Given the description of an element on the screen output the (x, y) to click on. 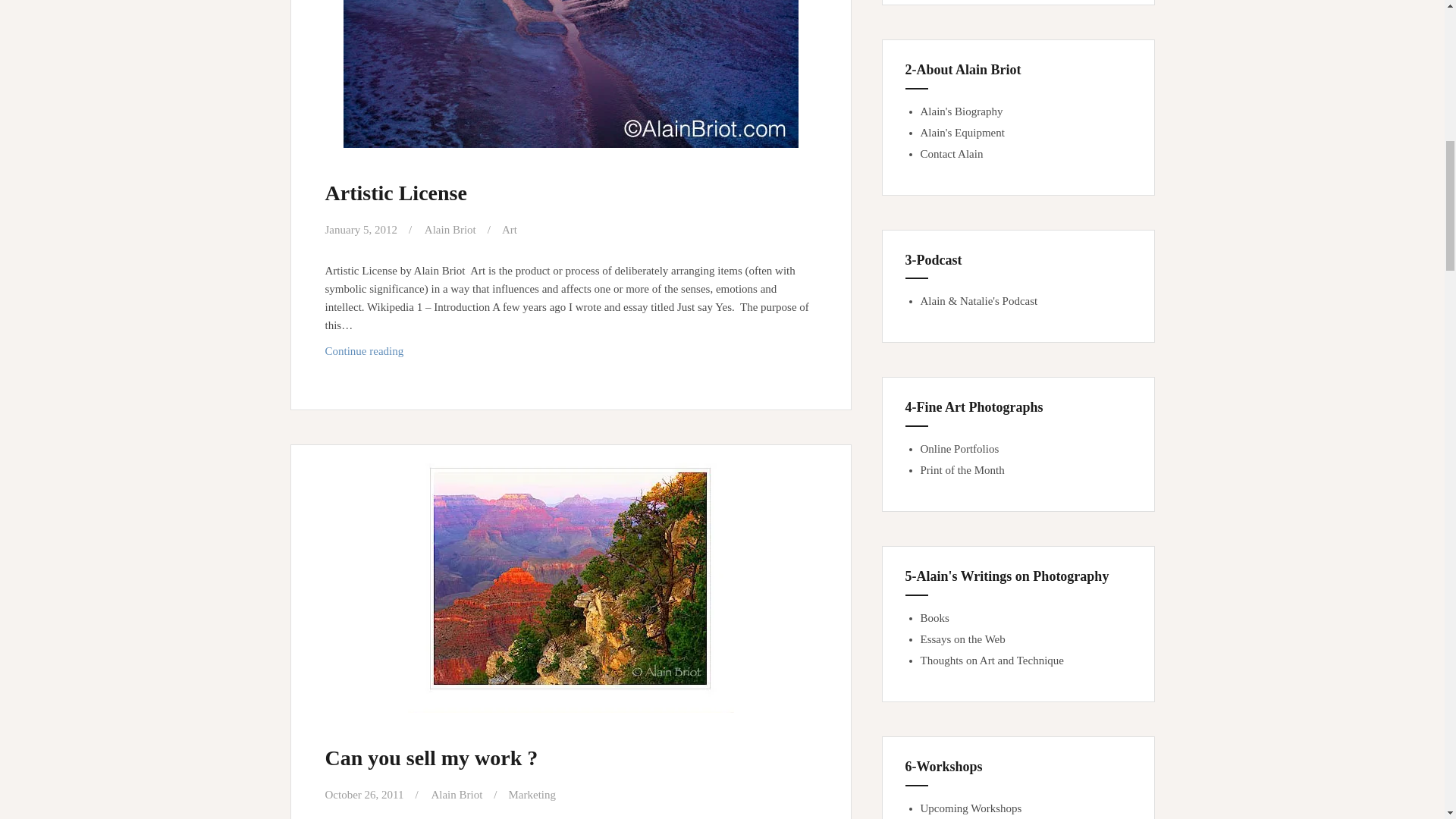
Alain Briot (450, 229)
October 26, 2011 (363, 794)
Artistic License (394, 192)
January 5, 2012 (360, 229)
Art (569, 350)
Can you sell my work ? (509, 229)
Alain Briot (430, 757)
Marketing (455, 794)
